Given the description of an element on the screen output the (x, y) to click on. 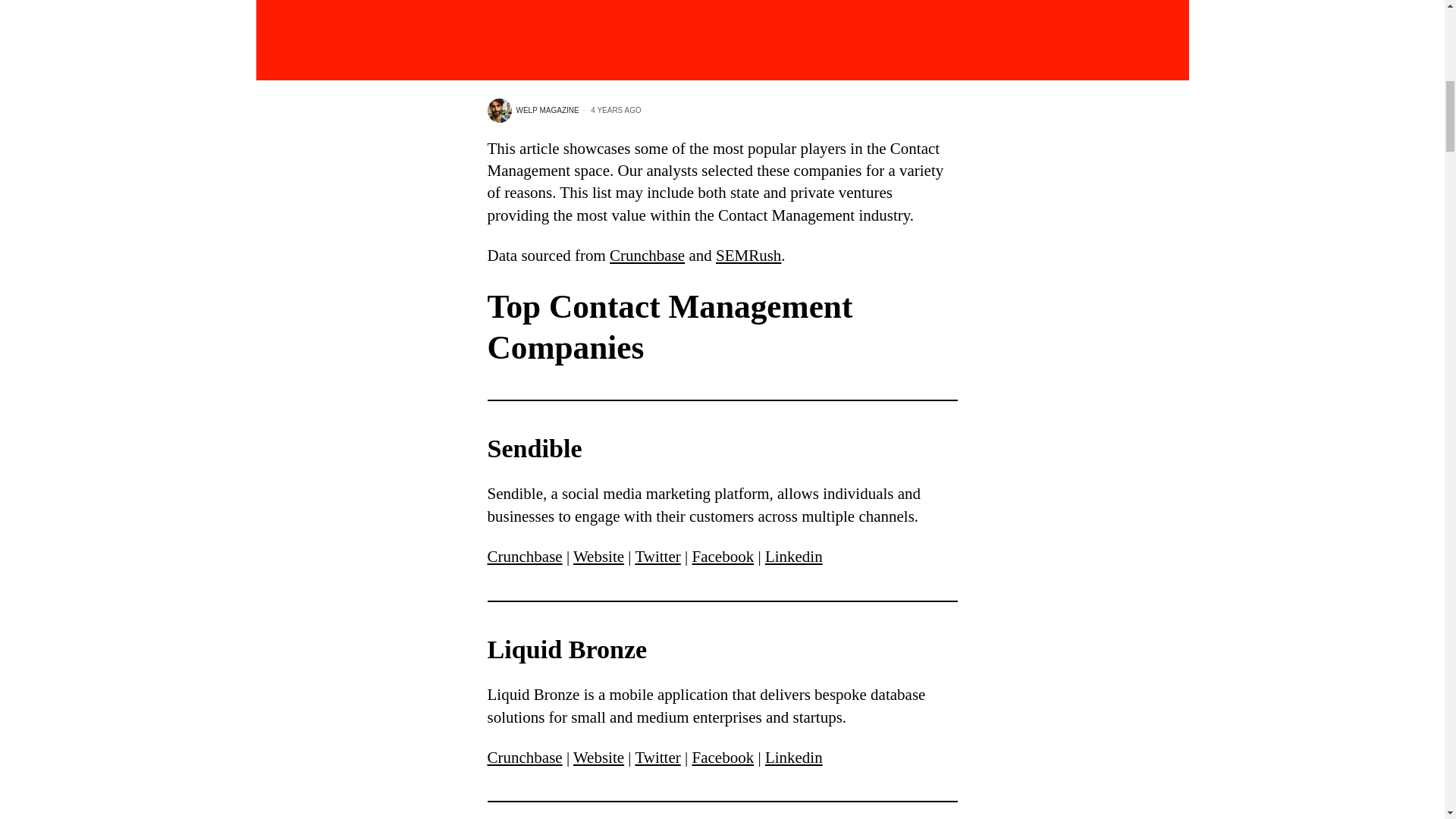
07 Dec, 2020 09:36:03 (610, 110)
Crunchbase (647, 255)
SEMRush (748, 255)
WELP MAGAZINE (532, 110)
